Given the description of an element on the screen output the (x, y) to click on. 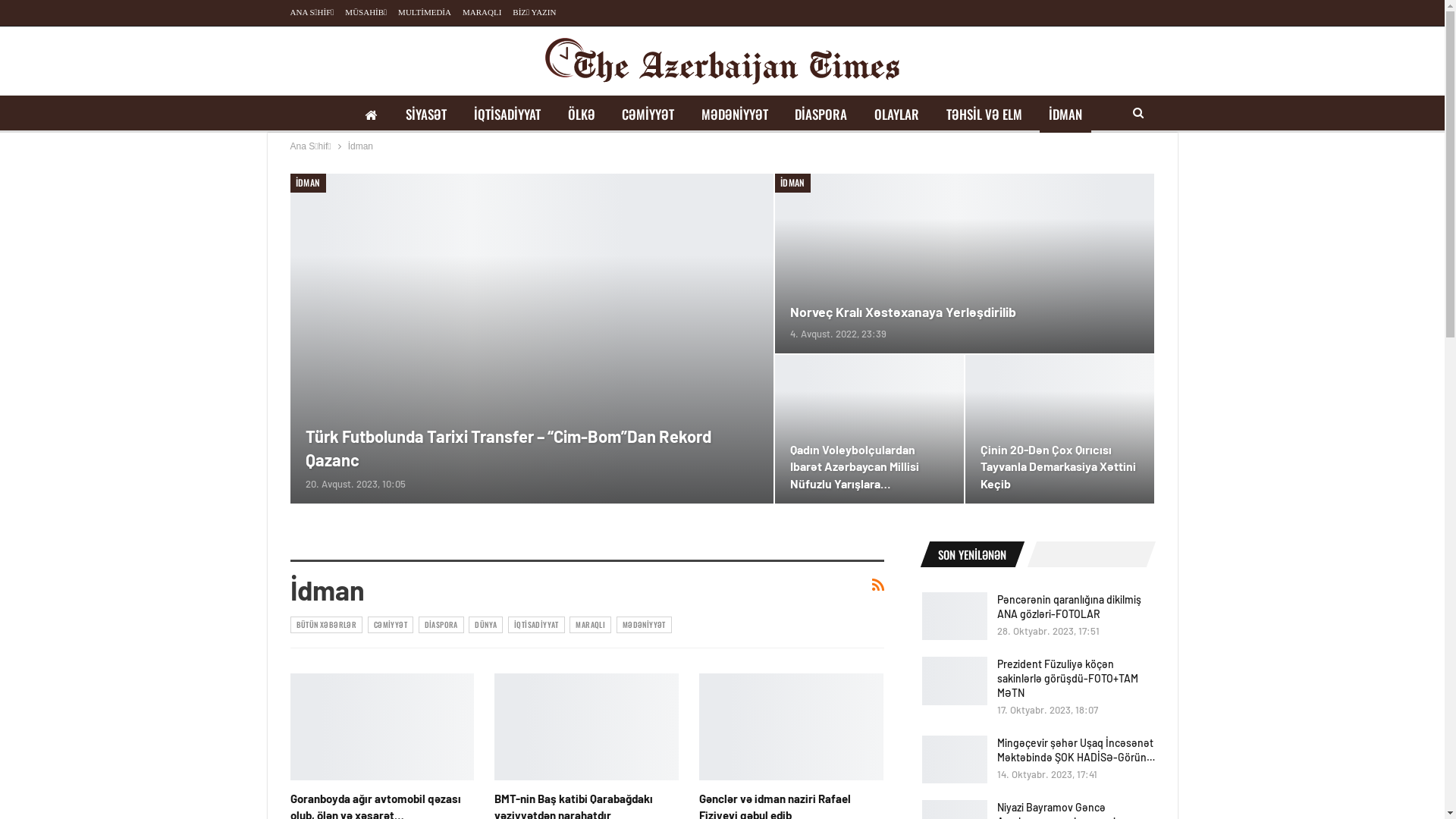
MARAQLI Element type: text (590, 624)
DIASPORA Element type: text (441, 624)
MARAQLI Element type: text (481, 11)
OLAYLAR Element type: text (896, 114)
DIASPORA Element type: text (820, 114)
